Given the description of an element on the screen output the (x, y) to click on. 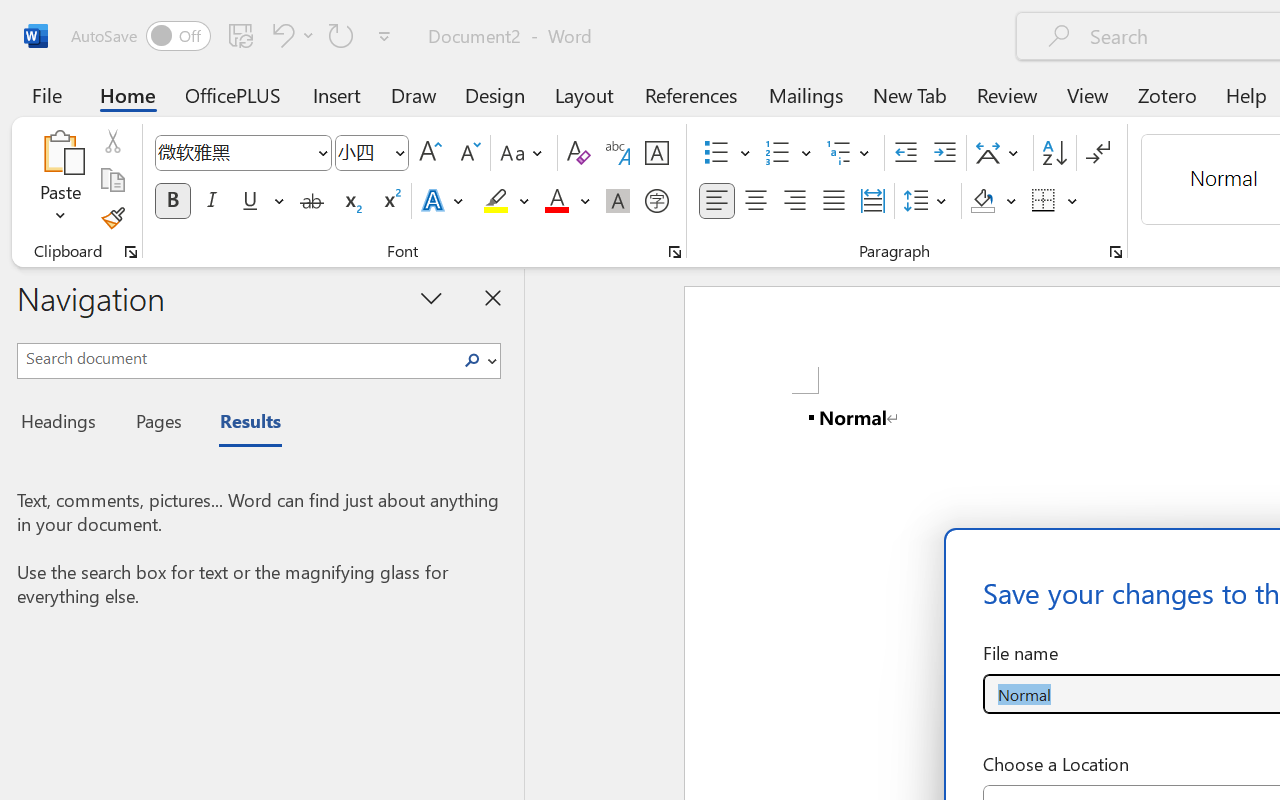
Underline (250, 201)
Text Highlight Color Yellow (495, 201)
Quick Access Toolbar (233, 36)
Align Left (716, 201)
Insert (337, 94)
Search document (236, 358)
Numbering (788, 153)
Sort... (1054, 153)
Paragraph... (1115, 252)
Repeat Text Fill Effect (341, 35)
Headings (64, 424)
Layout (584, 94)
Paste (60, 179)
Character Shading (618, 201)
Show/Hide Editing Marks (1098, 153)
